Given the description of an element on the screen output the (x, y) to click on. 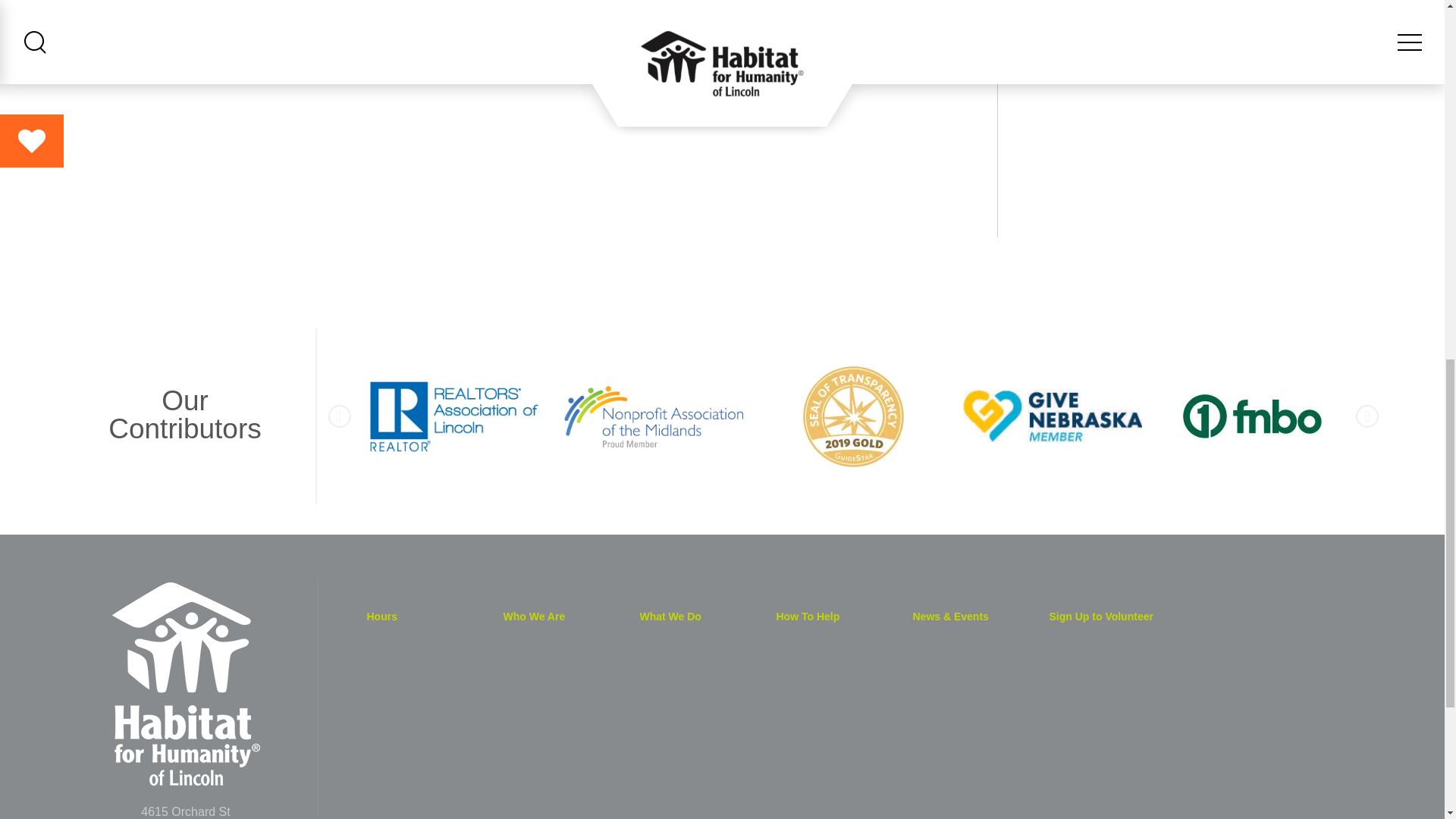
"I love the feeling" (568, 112)
